Given the description of an element on the screen output the (x, y) to click on. 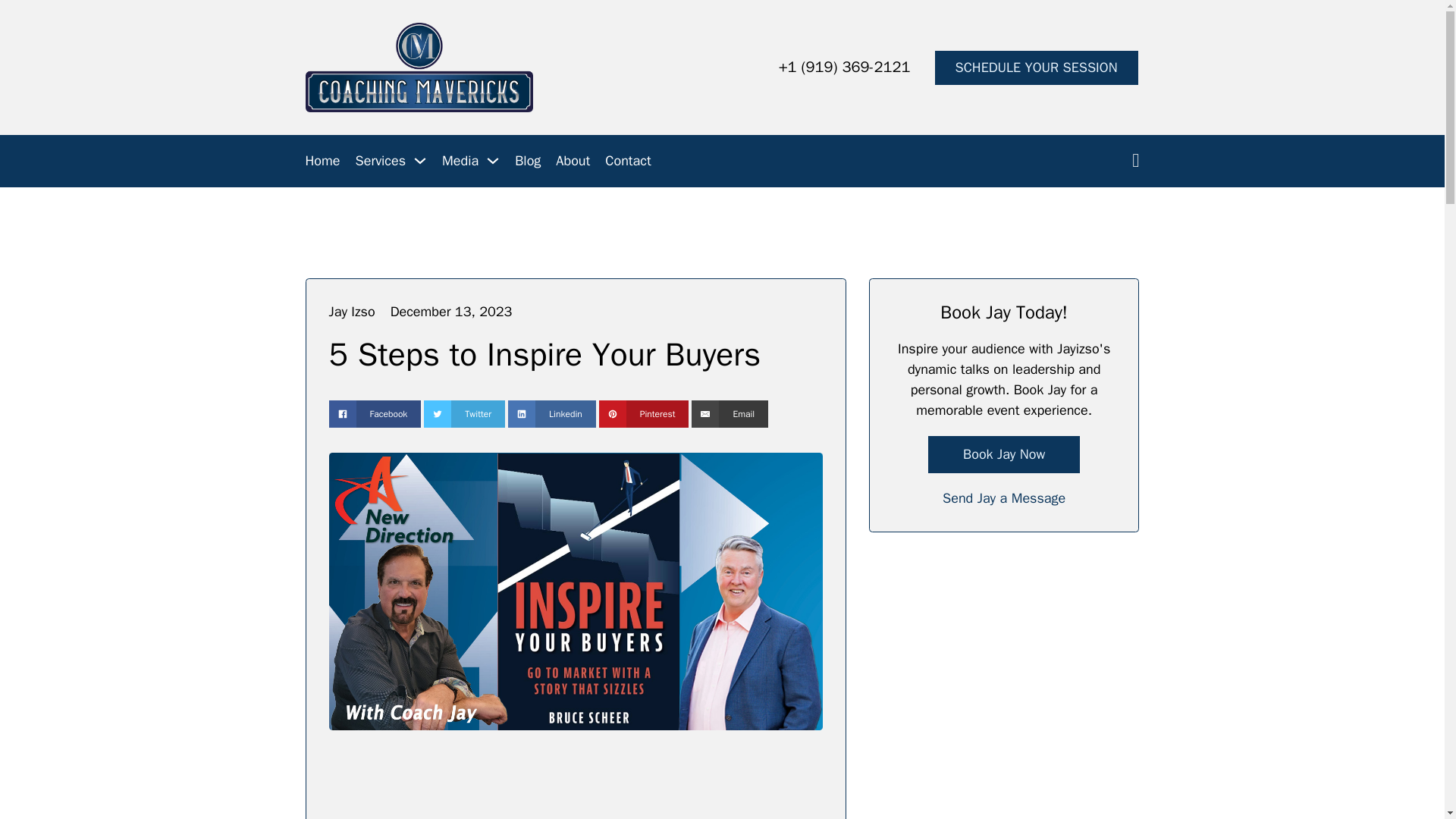
Blubrry Podcast Player (575, 787)
Services (380, 160)
Home (321, 160)
Contact (627, 160)
Media (460, 160)
Blog (527, 160)
SCHEDULE YOUR SESSION (1036, 67)
About (572, 160)
